Given the description of an element on the screen output the (x, y) to click on. 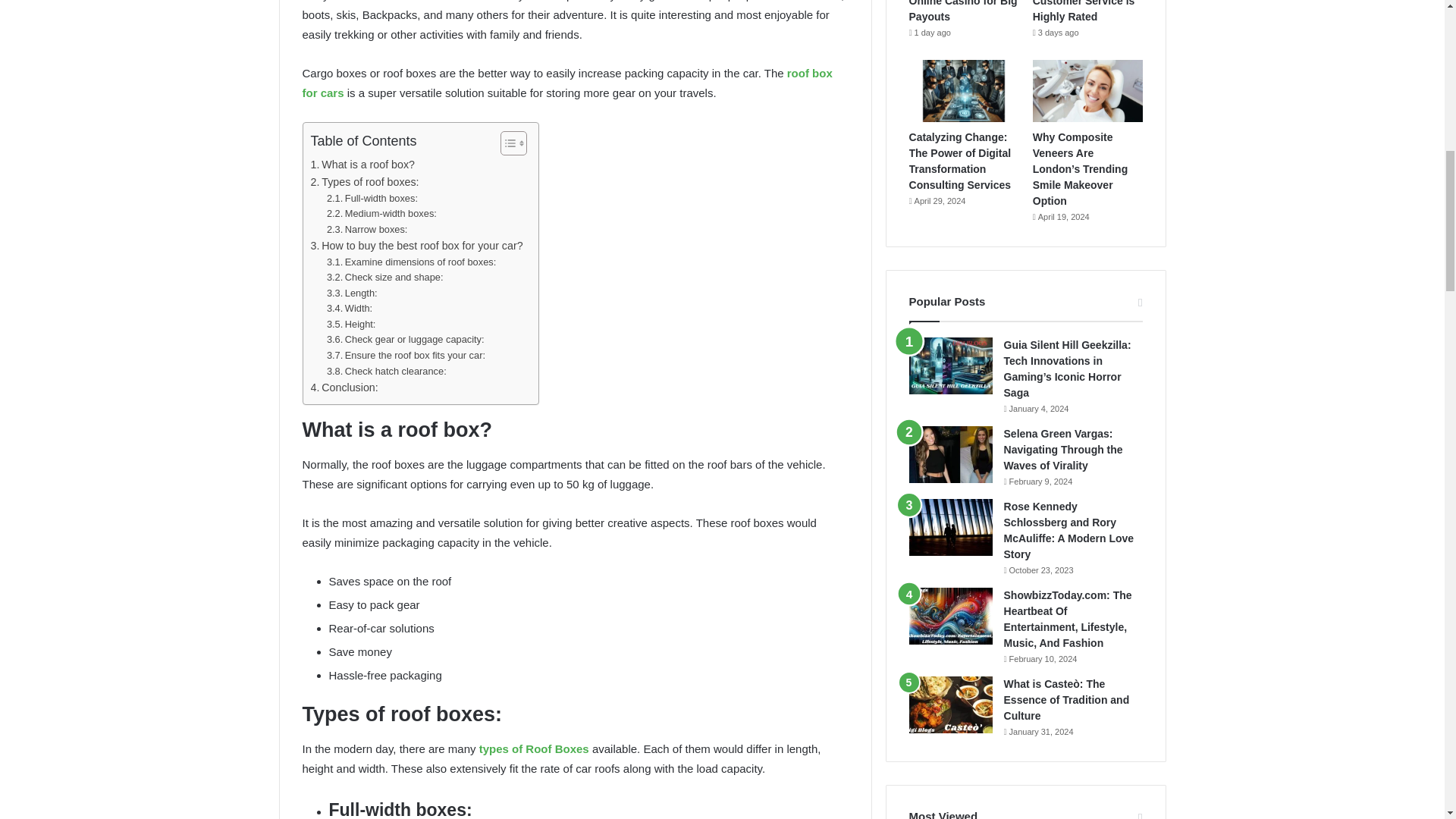
Types of roof boxes: (365, 181)
How to buy the best roof box for your car? (416, 245)
What is a roof box? (362, 164)
Examine dimensions of roof boxes: (411, 262)
Check size and shape: (385, 277)
Length: (351, 293)
Check size and shape: (385, 277)
Medium-width boxes: (381, 213)
Types of roof boxes: (365, 181)
What is a roof box? (362, 164)
